Given the description of an element on the screen output the (x, y) to click on. 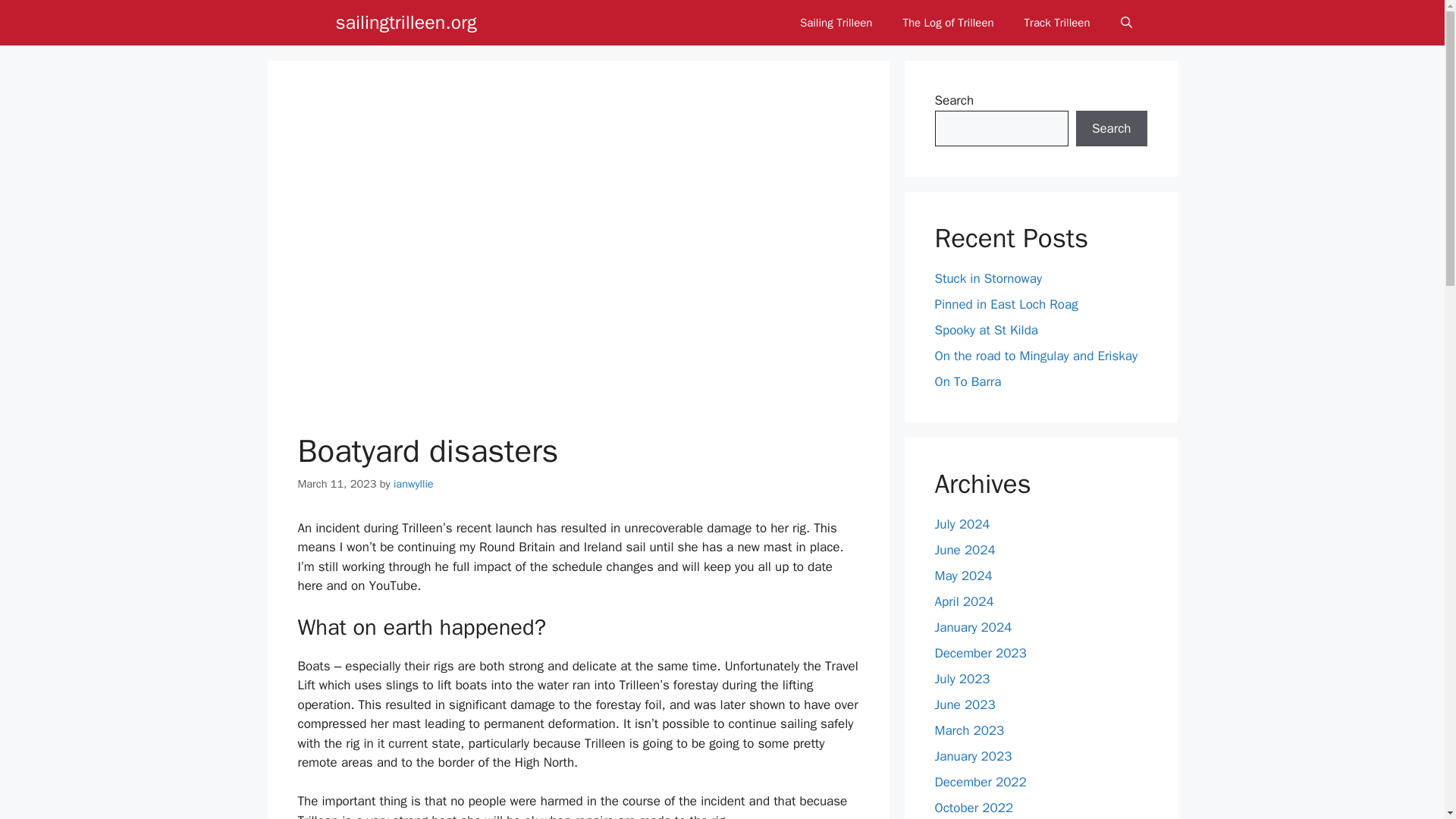
October 2022 (973, 806)
May 2024 (962, 575)
July 2024 (962, 523)
On the road to Mingulay and Eriskay (1035, 355)
On To Barra (967, 381)
Track Trilleen (1057, 22)
The Log of Trilleen (947, 22)
Spooky at St Kilda (985, 330)
June 2023 (964, 703)
View all posts by ianwyllie (413, 483)
